Given the description of an element on the screen output the (x, y) to click on. 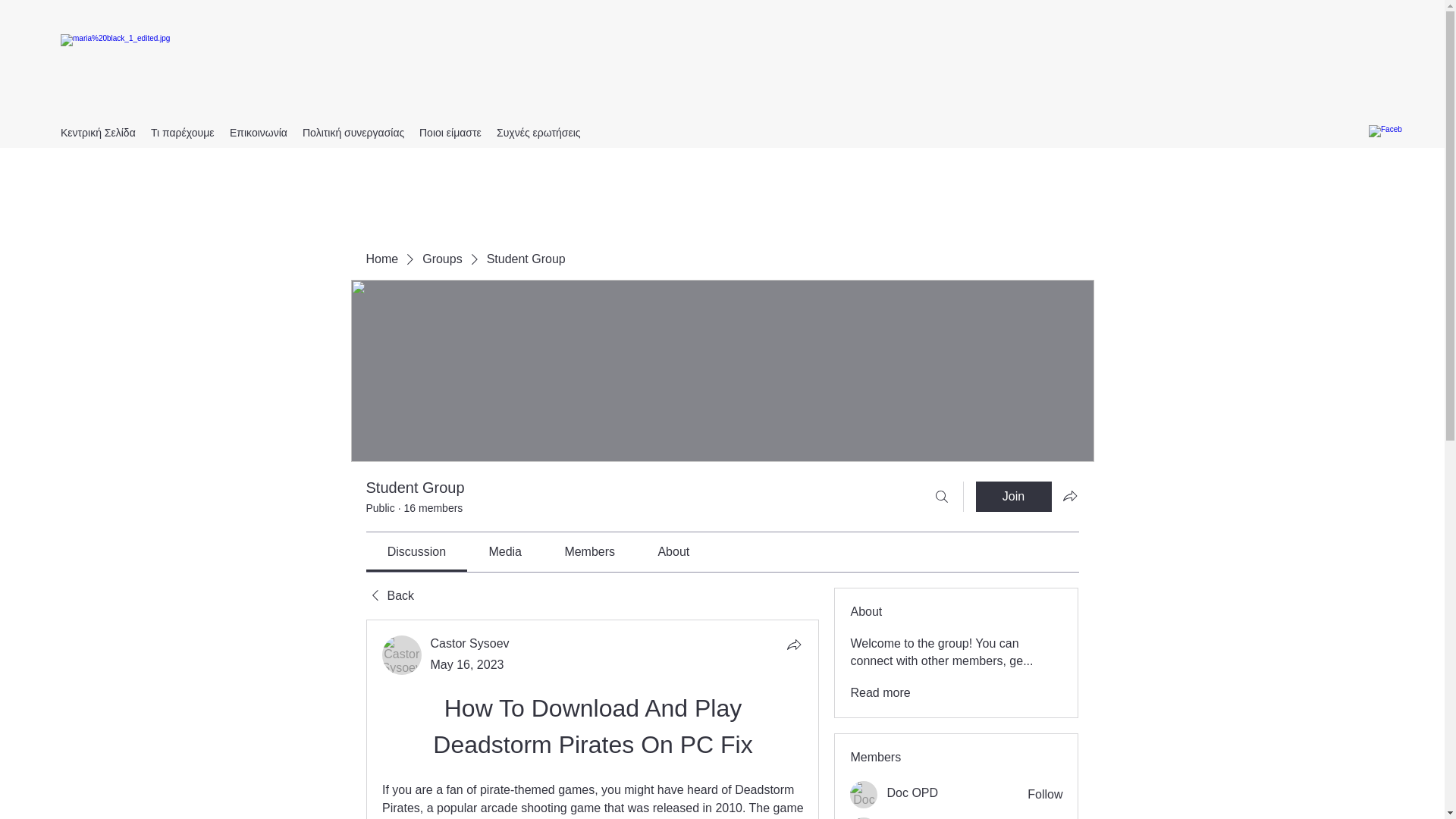
Follow (1044, 794)
Join (1013, 496)
Groups (441, 258)
Home (381, 258)
Doc OPD (911, 792)
Castor Sysoev (401, 654)
Castor Sysoev (469, 643)
Doc OPD (863, 794)
Back (389, 596)
May 16, 2023 (466, 664)
